Given the description of an element on the screen output the (x, y) to click on. 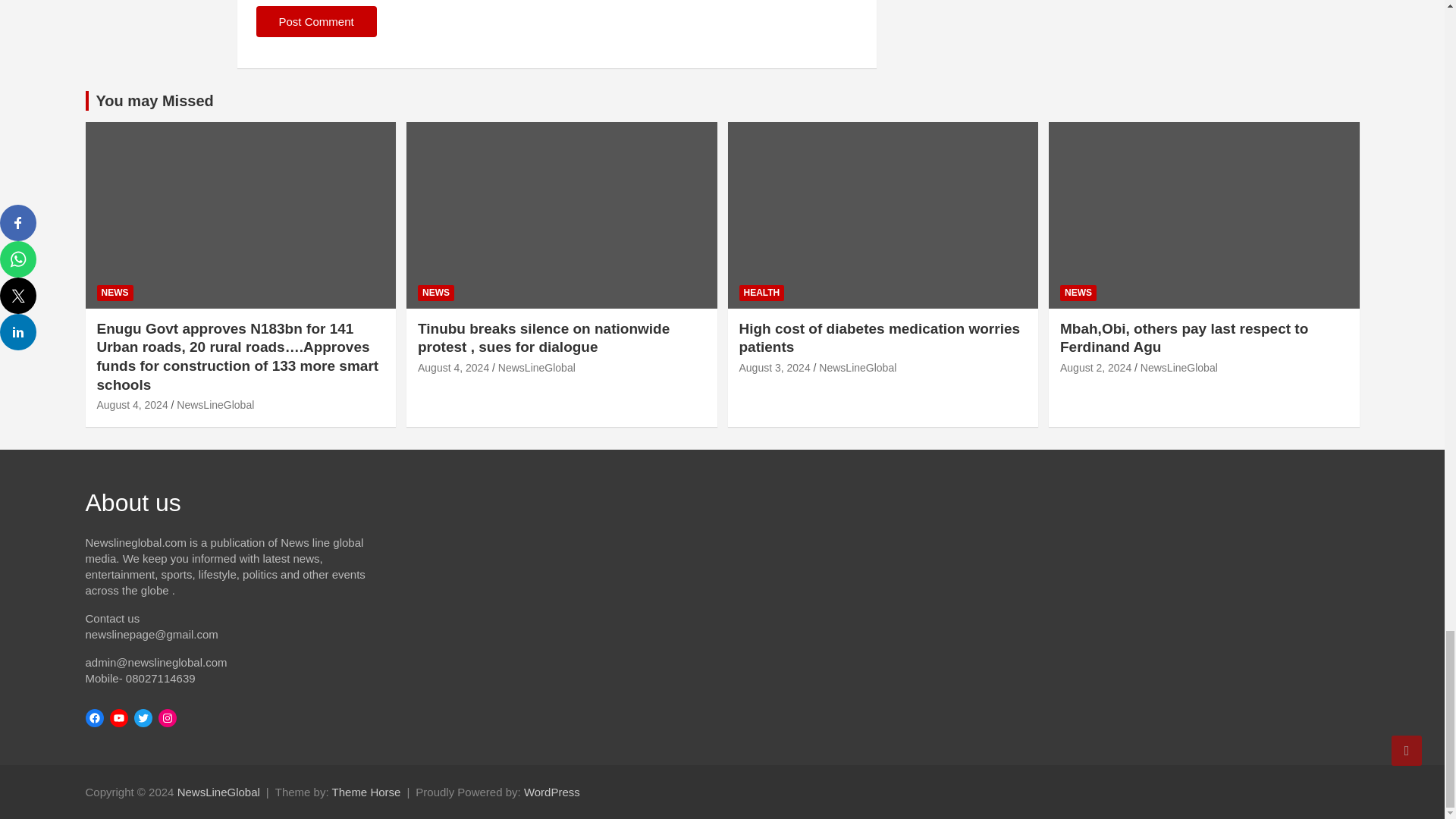
Post Comment (316, 20)
